Given the description of an element on the screen output the (x, y) to click on. 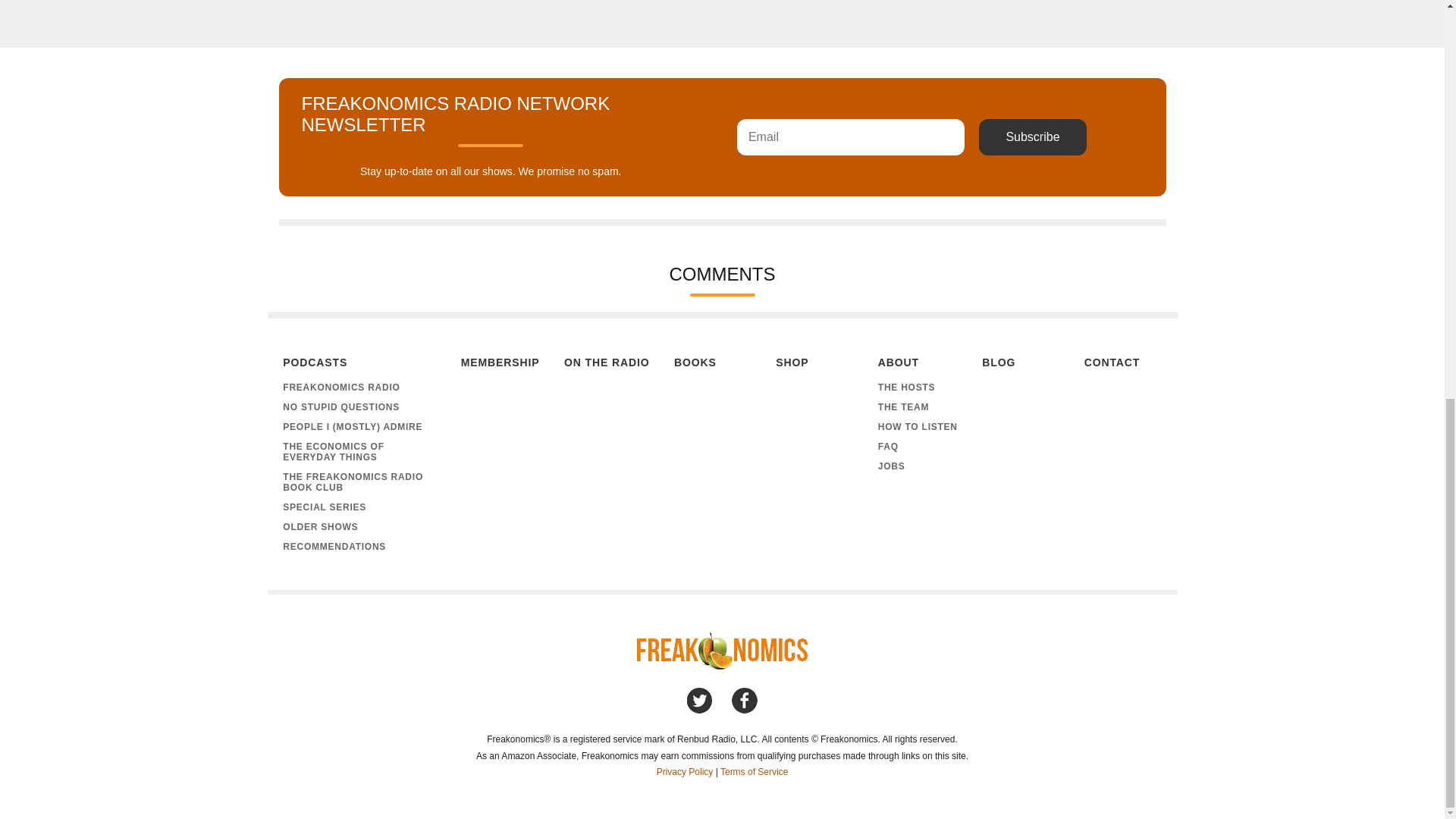
Twitter (700, 700)
PODCASTS (358, 364)
Facebook (744, 700)
Subscribe (1032, 136)
Subscribe (1032, 136)
Return to homepage (722, 665)
